Given the description of an element on the screen output the (x, y) to click on. 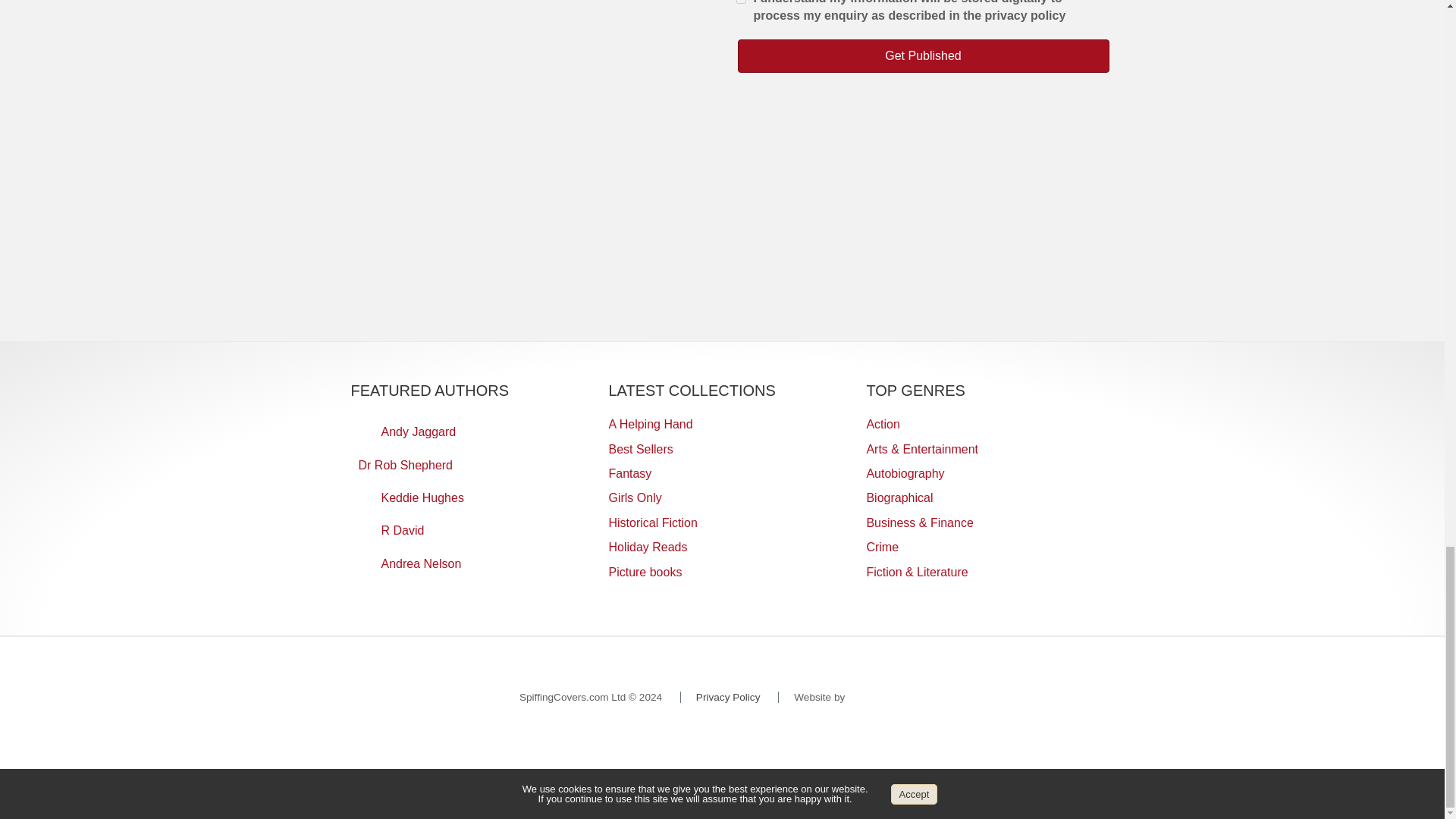
1 (740, 3)
